Given the description of an element on the screen output the (x, y) to click on. 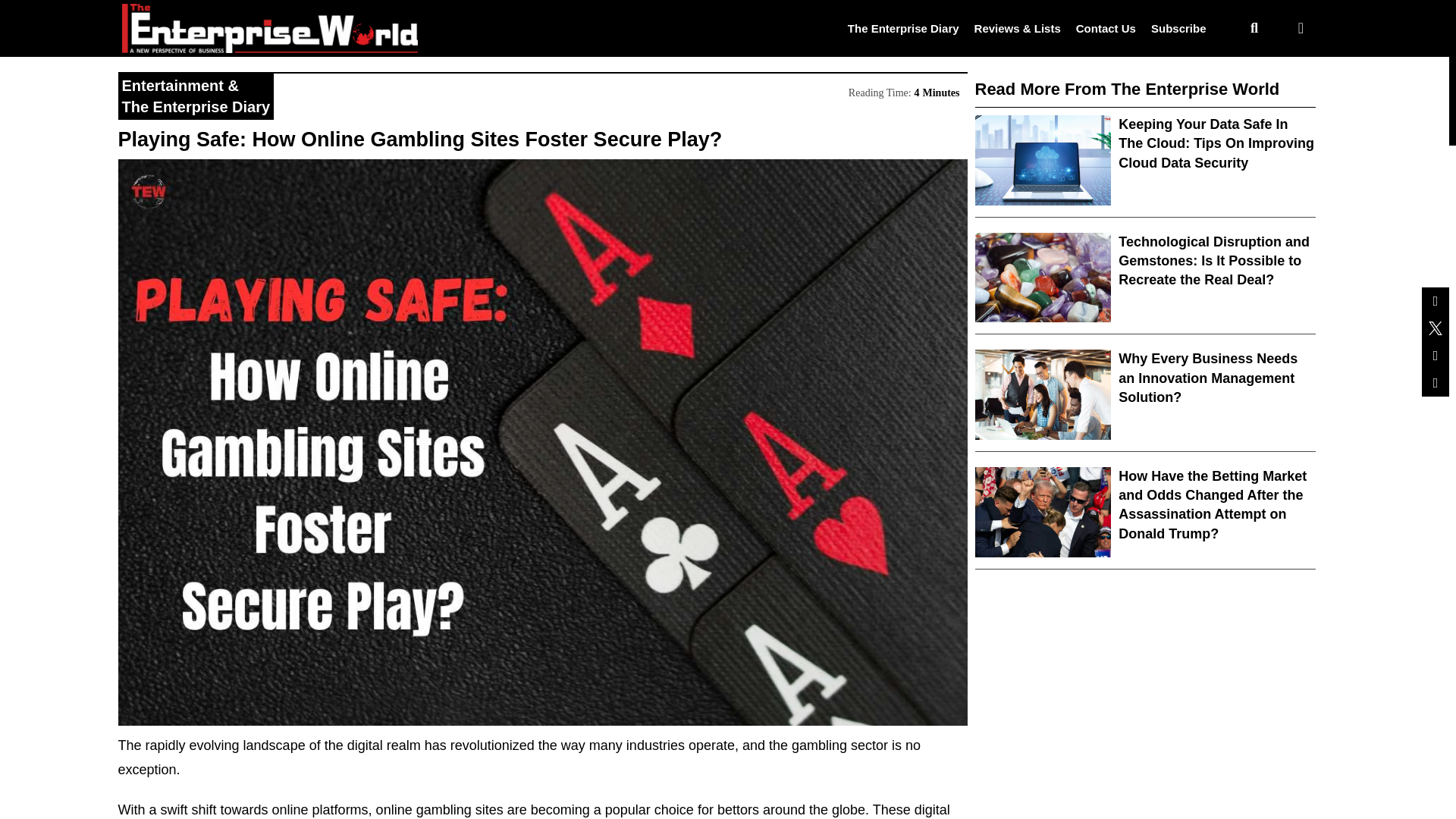
Contact Us (1105, 28)
Entertainment (171, 85)
The Enterprise Diary (903, 28)
The Enterprise Diary (194, 106)
Why Every Business Needs an Innovation Management Solution? (1207, 377)
Subscribe (1179, 28)
